Given the description of an element on the screen output the (x, y) to click on. 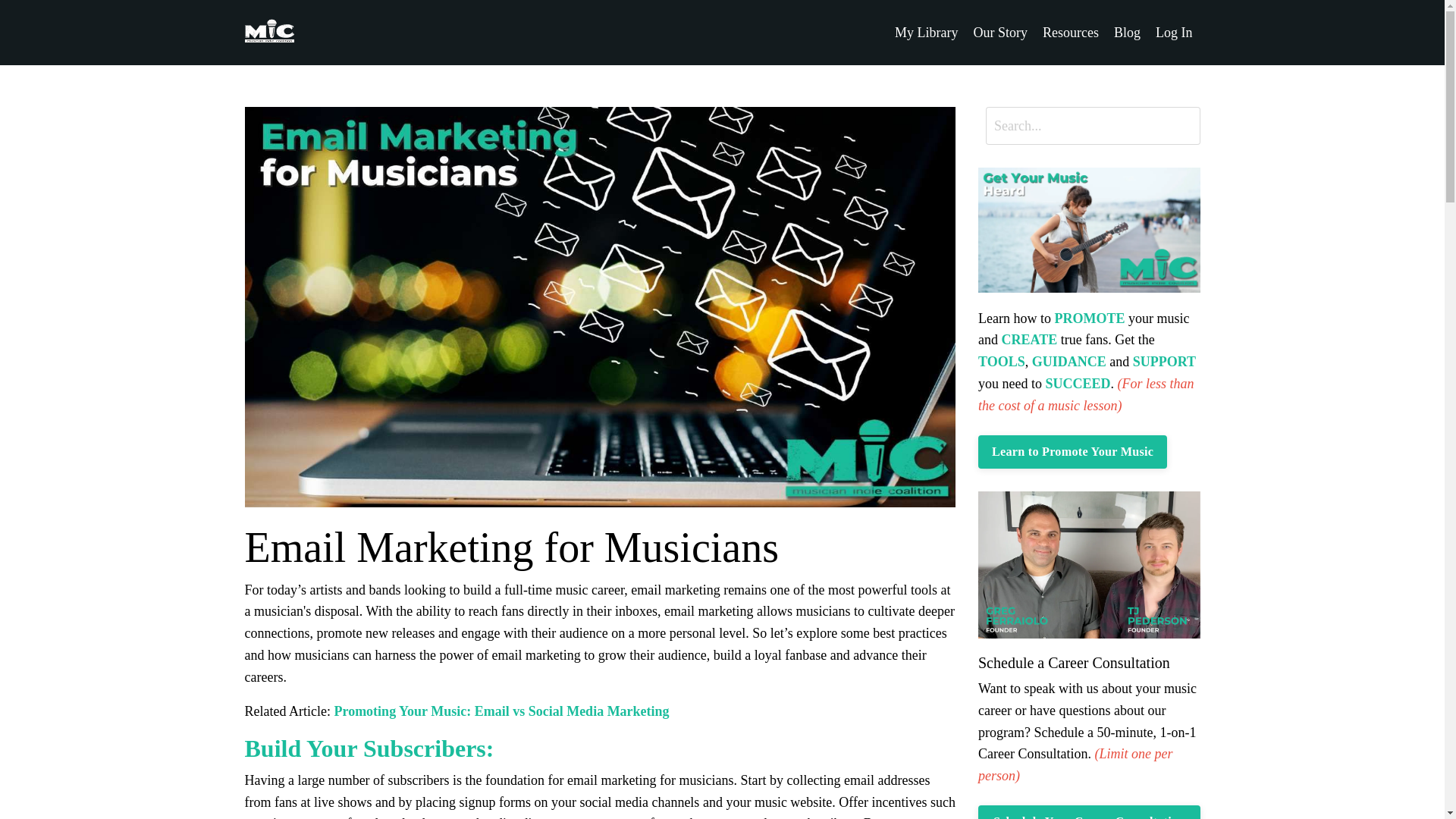
Schedule Your Career Consultation (1088, 812)
Resources (1070, 33)
Log In (1174, 32)
My Library (926, 33)
Blog (1126, 33)
Promoting Your Music: Email vs Social Media Marketing (500, 711)
Our Story (1000, 33)
Learn to Promote Your Music (1072, 451)
Promoting Your Music: Email vs Social Media Marketing (500, 711)
